Given the description of an element on the screen output the (x, y) to click on. 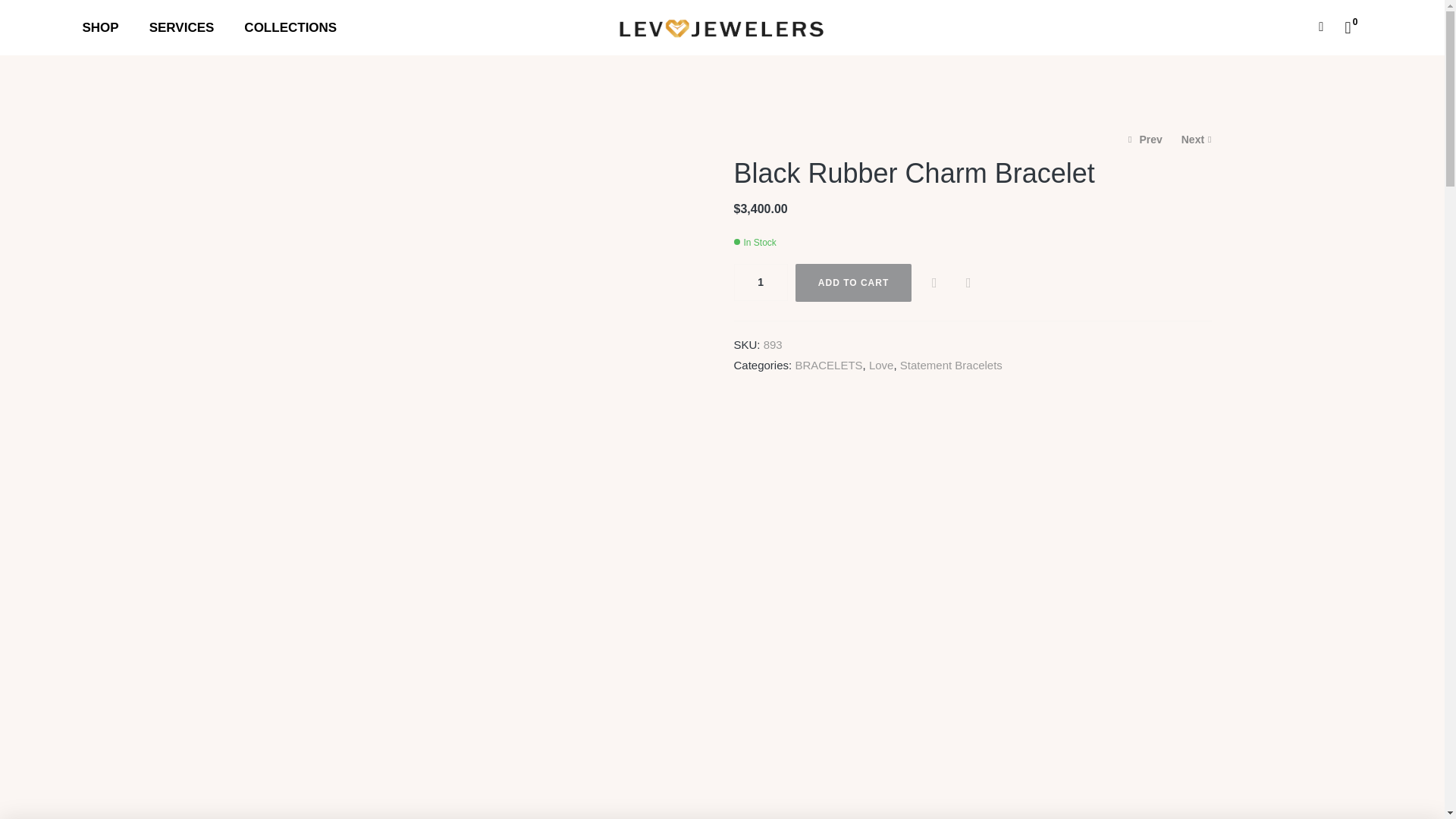
Qty (760, 282)
1 (760, 282)
SHOP (99, 27)
SERVICES (181, 27)
Next (1195, 139)
COLLECTIONS (290, 27)
Prev (1144, 139)
